Given the description of an element on the screen output the (x, y) to click on. 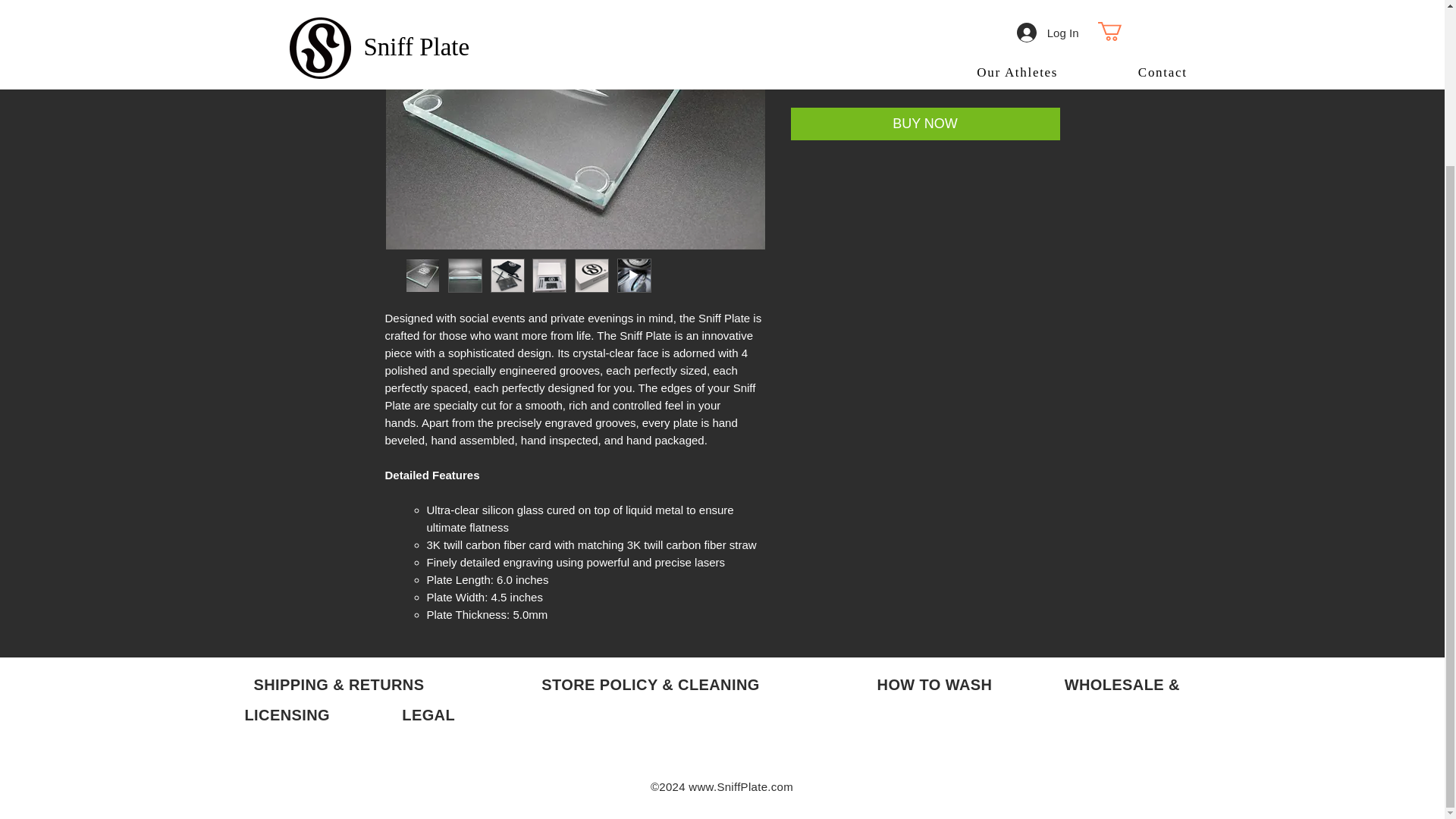
www.SniffPlate.com (740, 786)
1 (820, 67)
BUY NOW (924, 123)
